Given the description of an element on the screen output the (x, y) to click on. 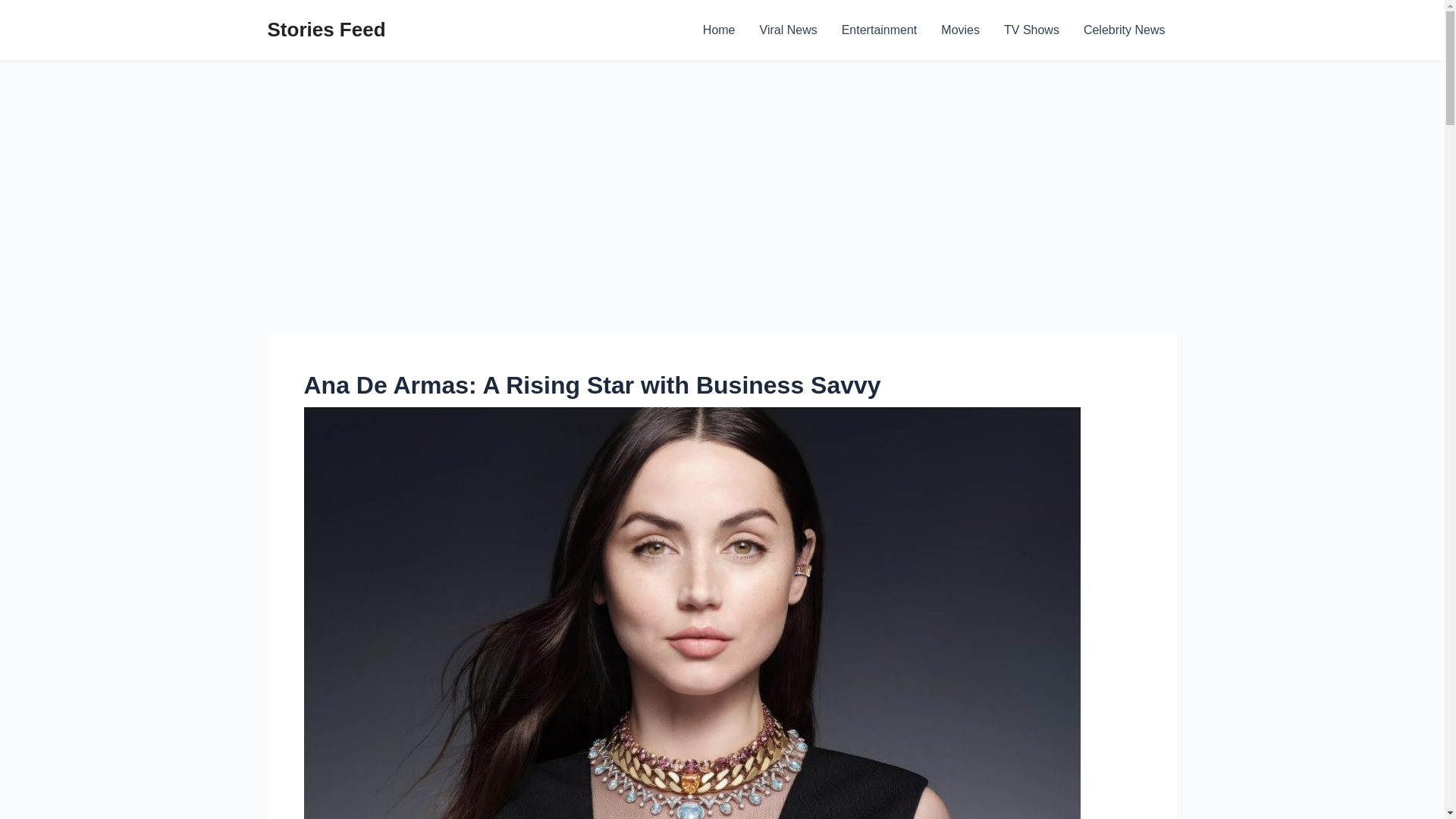
Viral News (788, 30)
Celebrity News (1124, 30)
TV Shows (1031, 30)
Entertainment (879, 30)
Movies (959, 30)
Stories Feed (325, 29)
Home (719, 30)
